Given the description of an element on the screen output the (x, y) to click on. 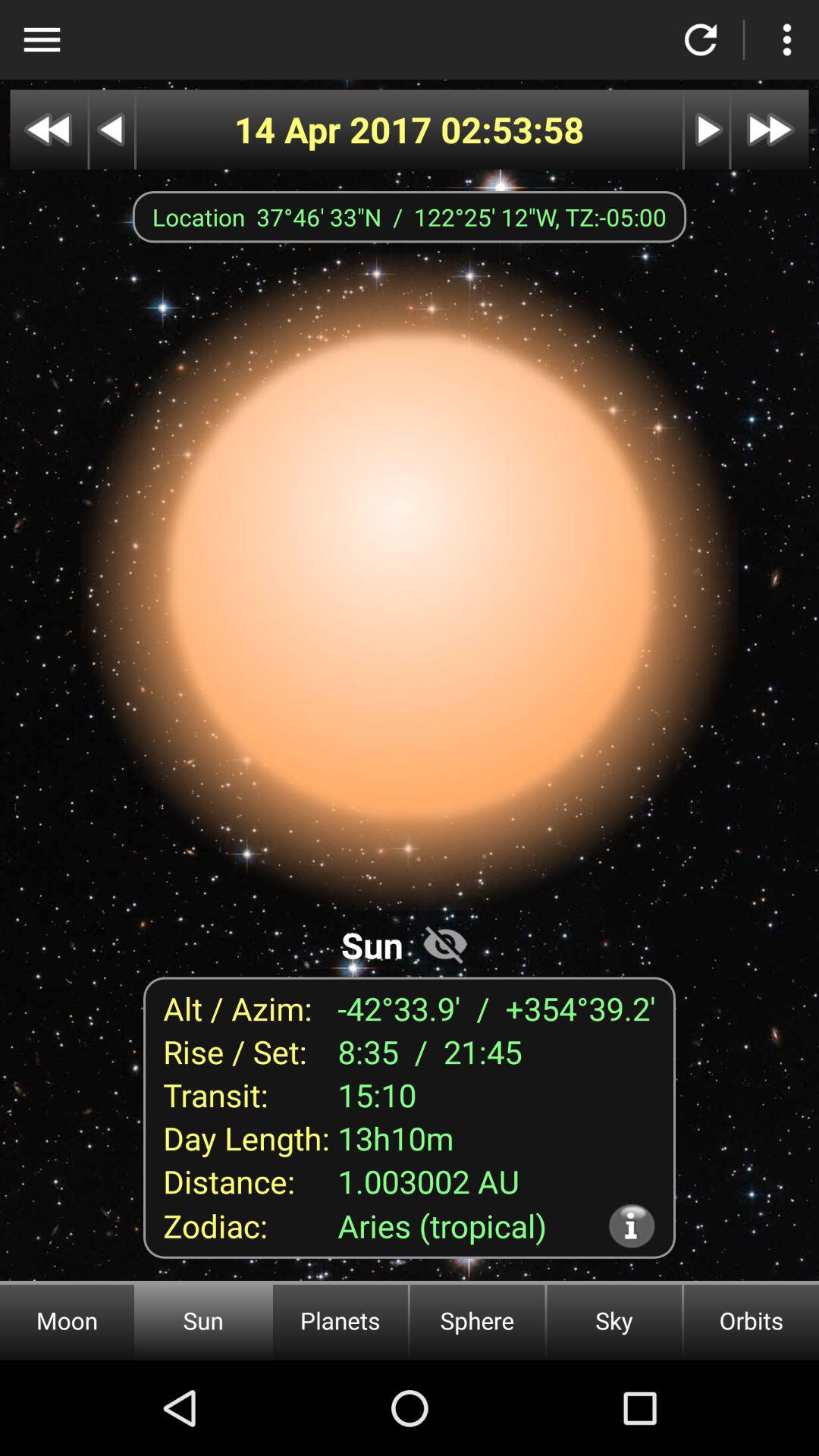
open menu (41, 39)
